Given the description of an element on the screen output the (x, y) to click on. 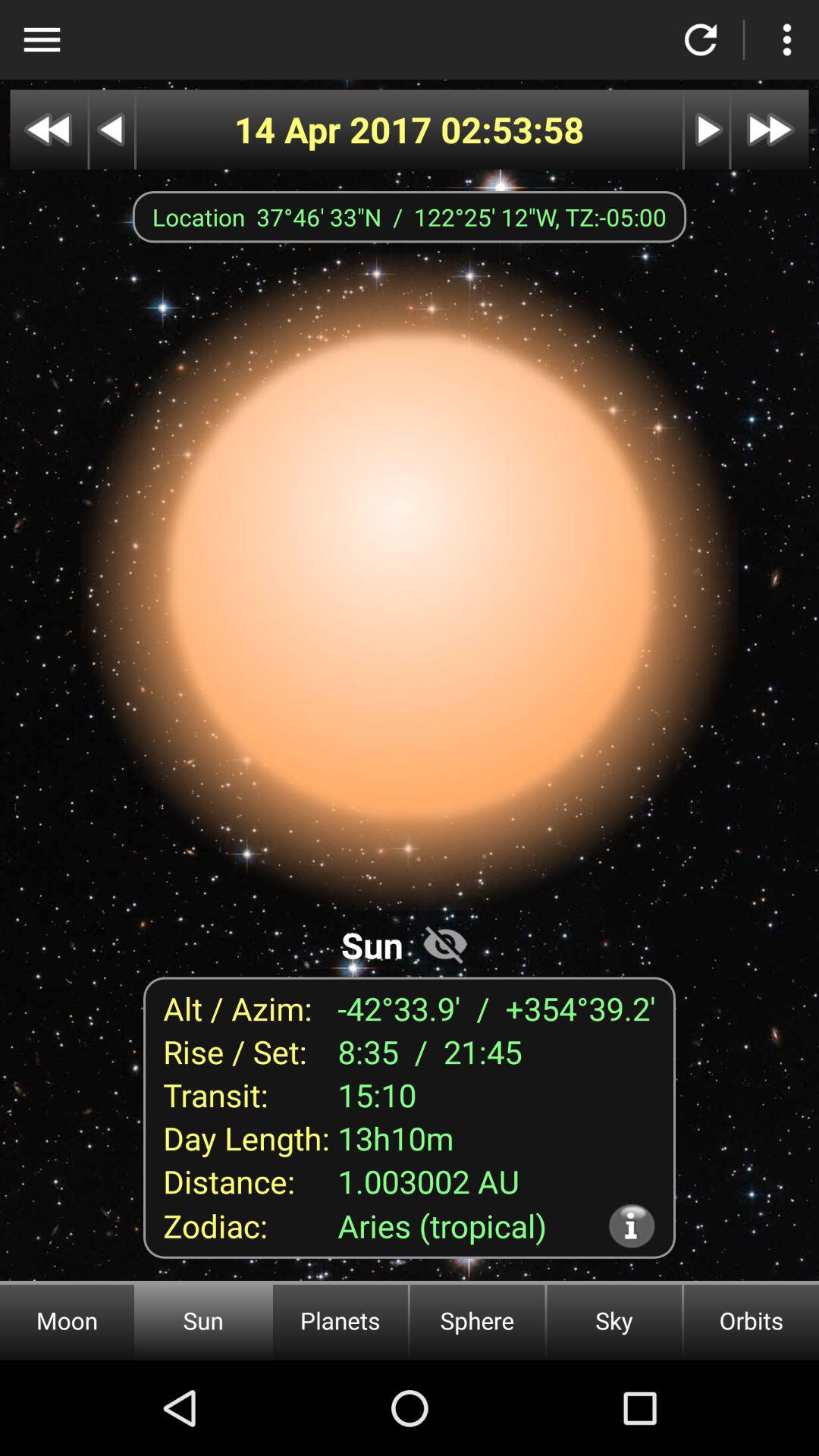
open menu (41, 39)
